Given the description of an element on the screen output the (x, y) to click on. 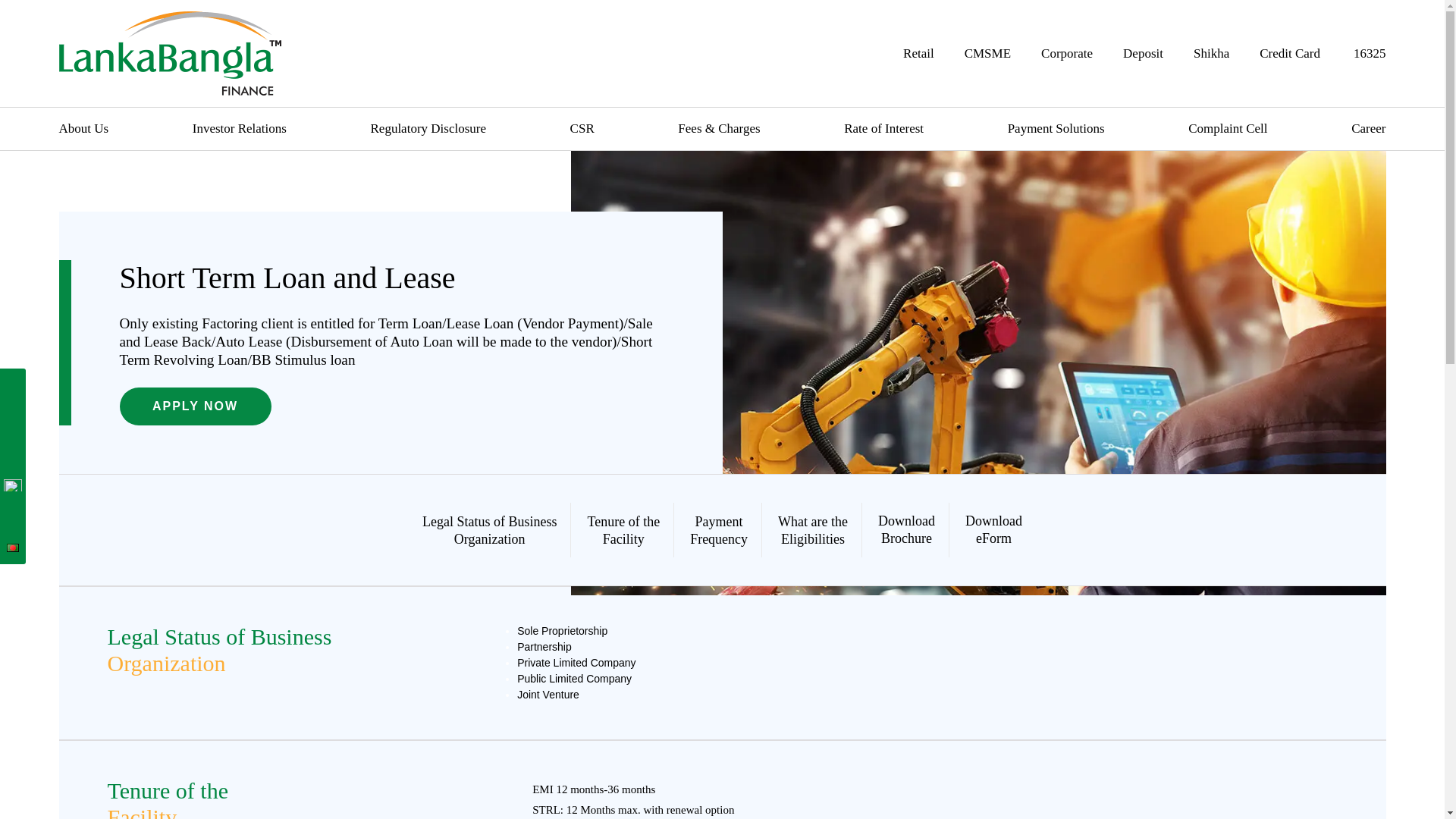
Payment Solutions (1056, 128)
Deposit (1142, 52)
CMSME (986, 52)
Shikha (1210, 52)
Corporate (1067, 52)
Complaint Cell (1227, 128)
Investor Relations (239, 128)
About Us (84, 128)
Credit Card (1289, 52)
Regulatory Disclosure (428, 128)
